Given the description of an element on the screen output the (x, y) to click on. 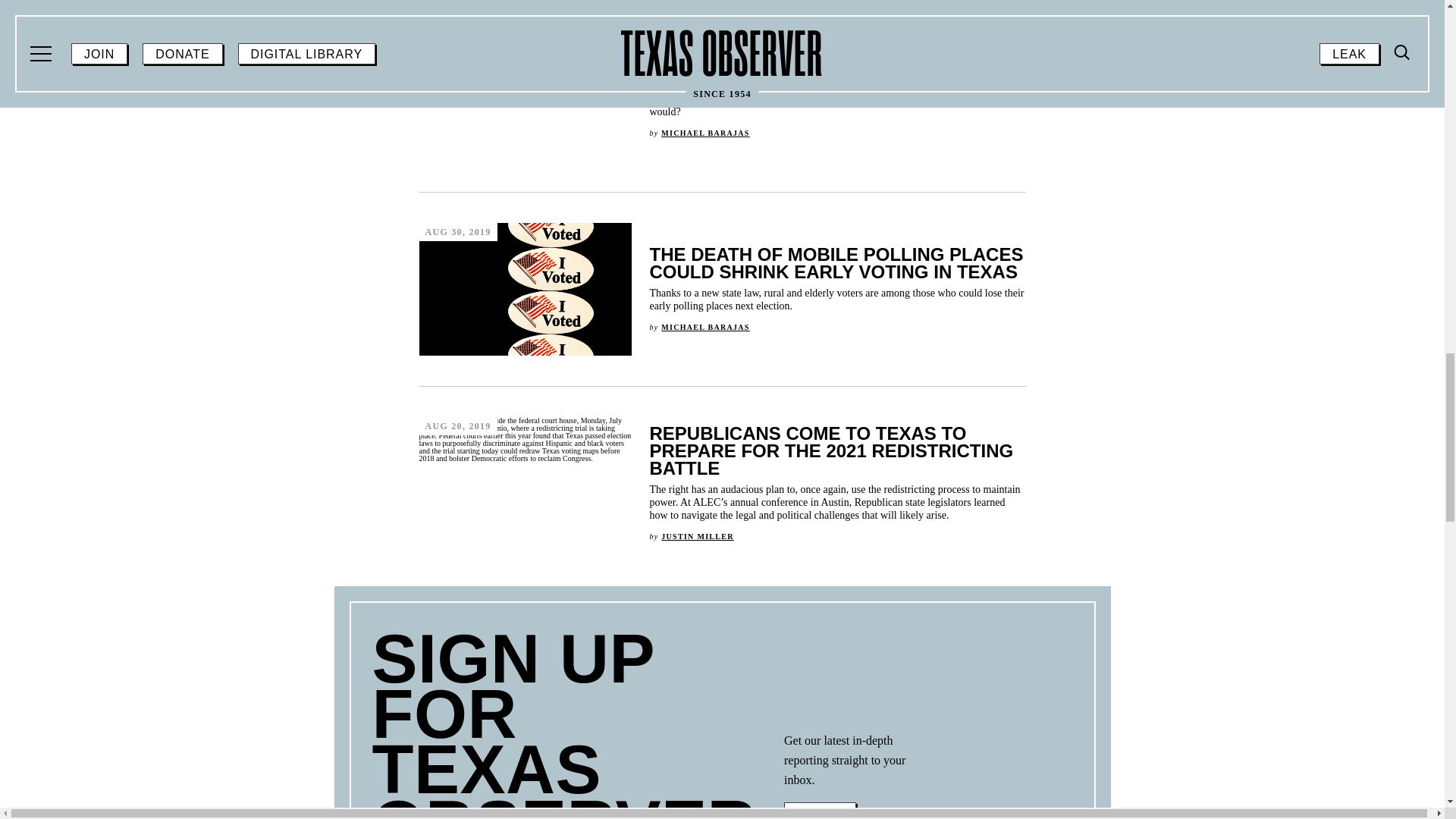
Post by Michael Barajas (705, 326)
Post by Justin Miller (697, 536)
Post by Michael Barajas (705, 132)
Page 6 (852, 760)
